Given the description of an element on the screen output the (x, y) to click on. 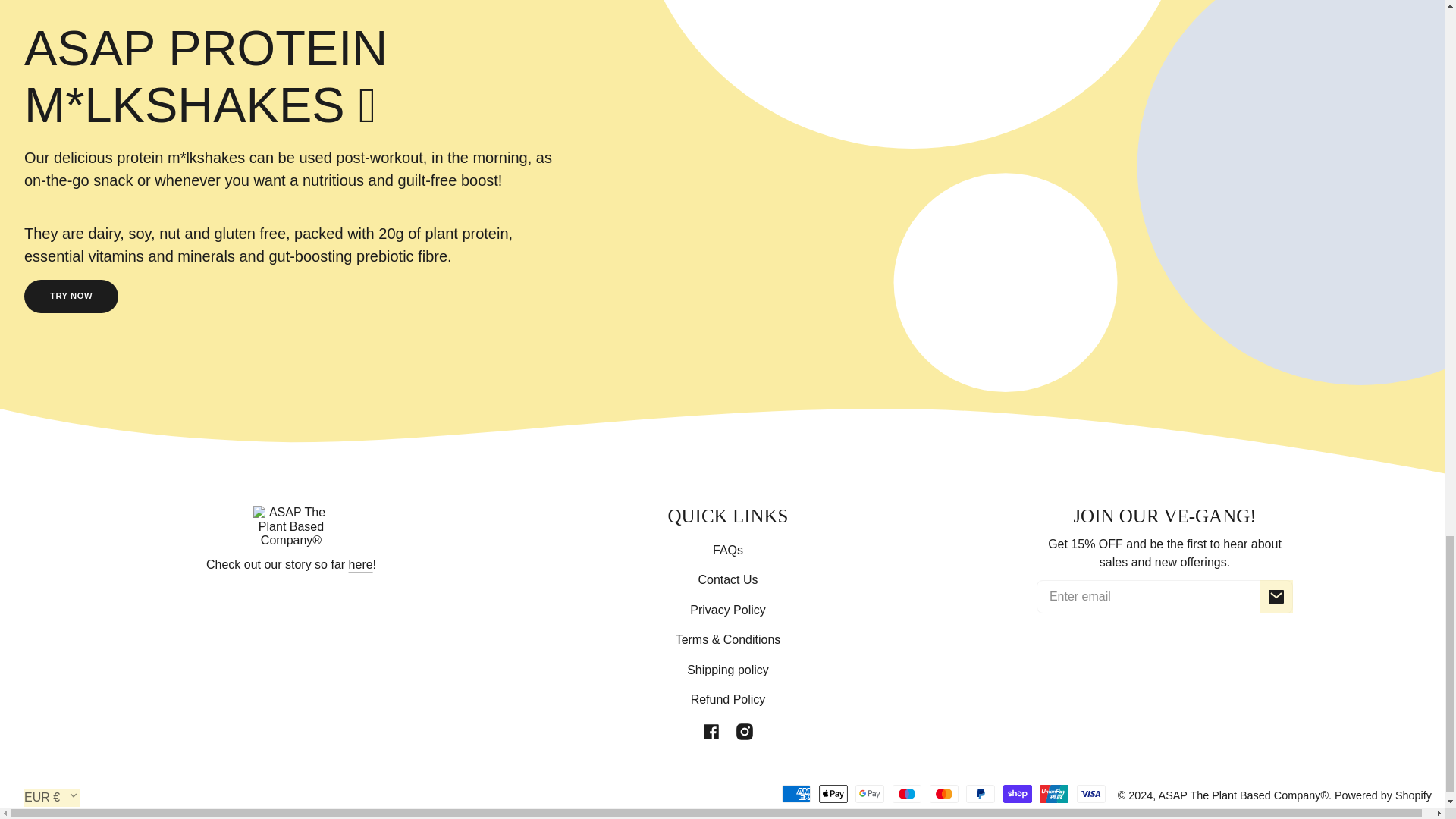
Mastercard (944, 793)
Union Pay (1053, 793)
TRY NOW (70, 296)
Powered by Shopify (1383, 795)
FAQs (727, 550)
Shipping policy (727, 669)
Privacy Policy (727, 609)
Instagram (744, 731)
Shop Pay (1017, 793)
here (360, 563)
